Given the description of an element on the screen output the (x, y) to click on. 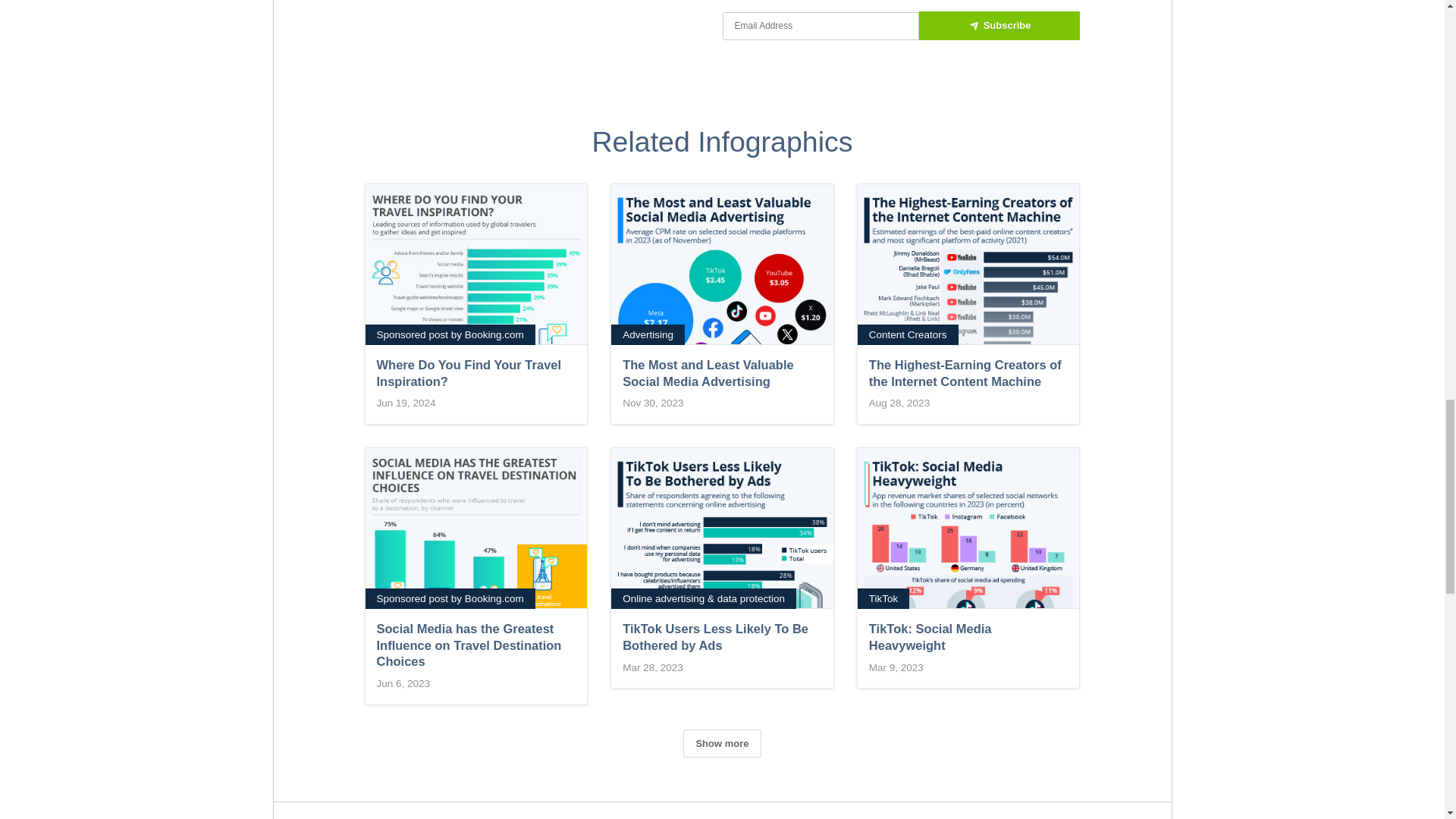
The Most and Least Valuable Social Media Advertising (722, 304)
Where Do You Find Your Travel Inspiration? (476, 304)
The Highest-Earning Creators of the Internet Content Machine (968, 304)
